Given the description of an element on the screen output the (x, y) to click on. 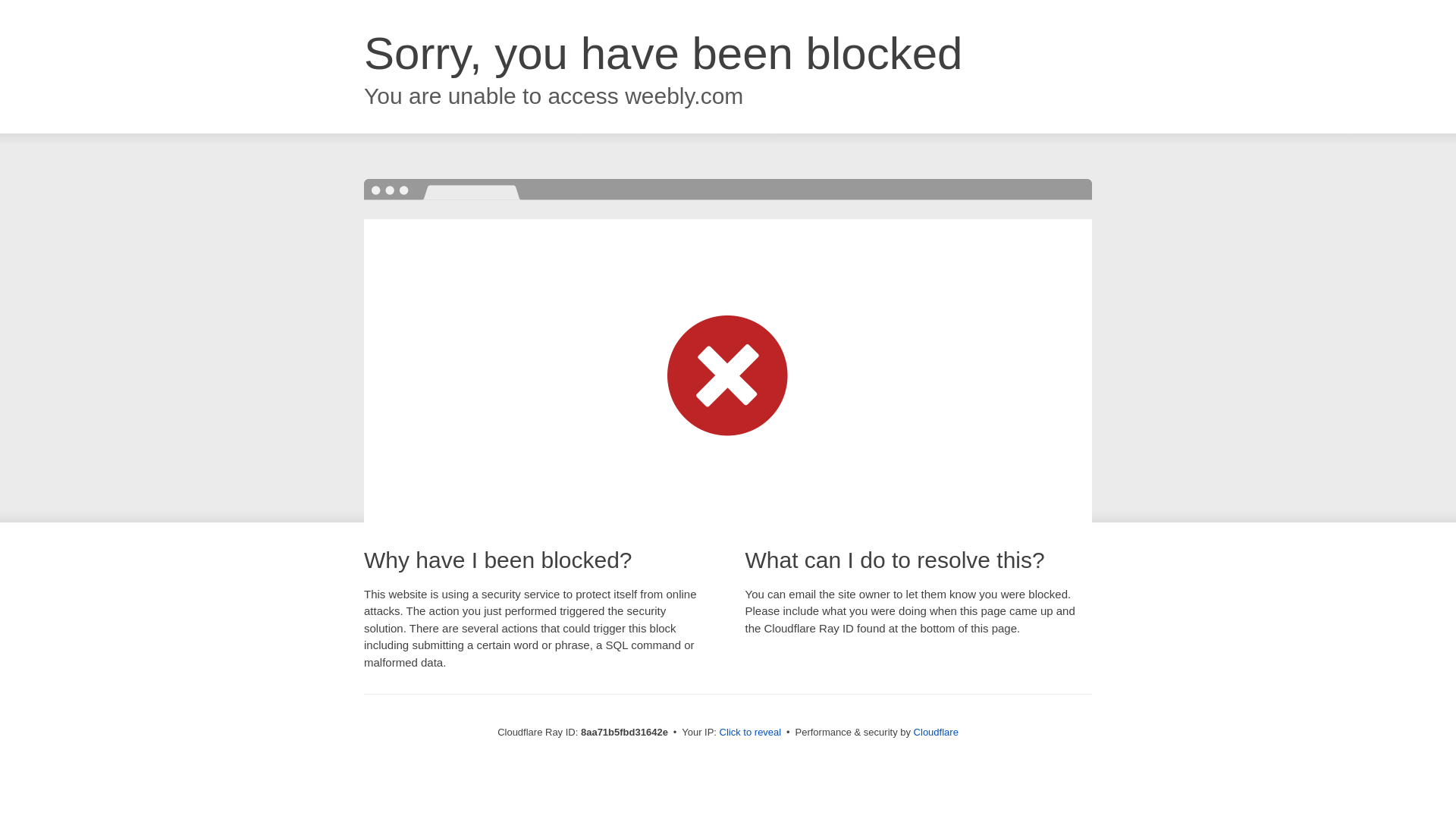
Click to reveal (750, 732)
Cloudflare (936, 731)
